Given the description of an element on the screen output the (x, y) to click on. 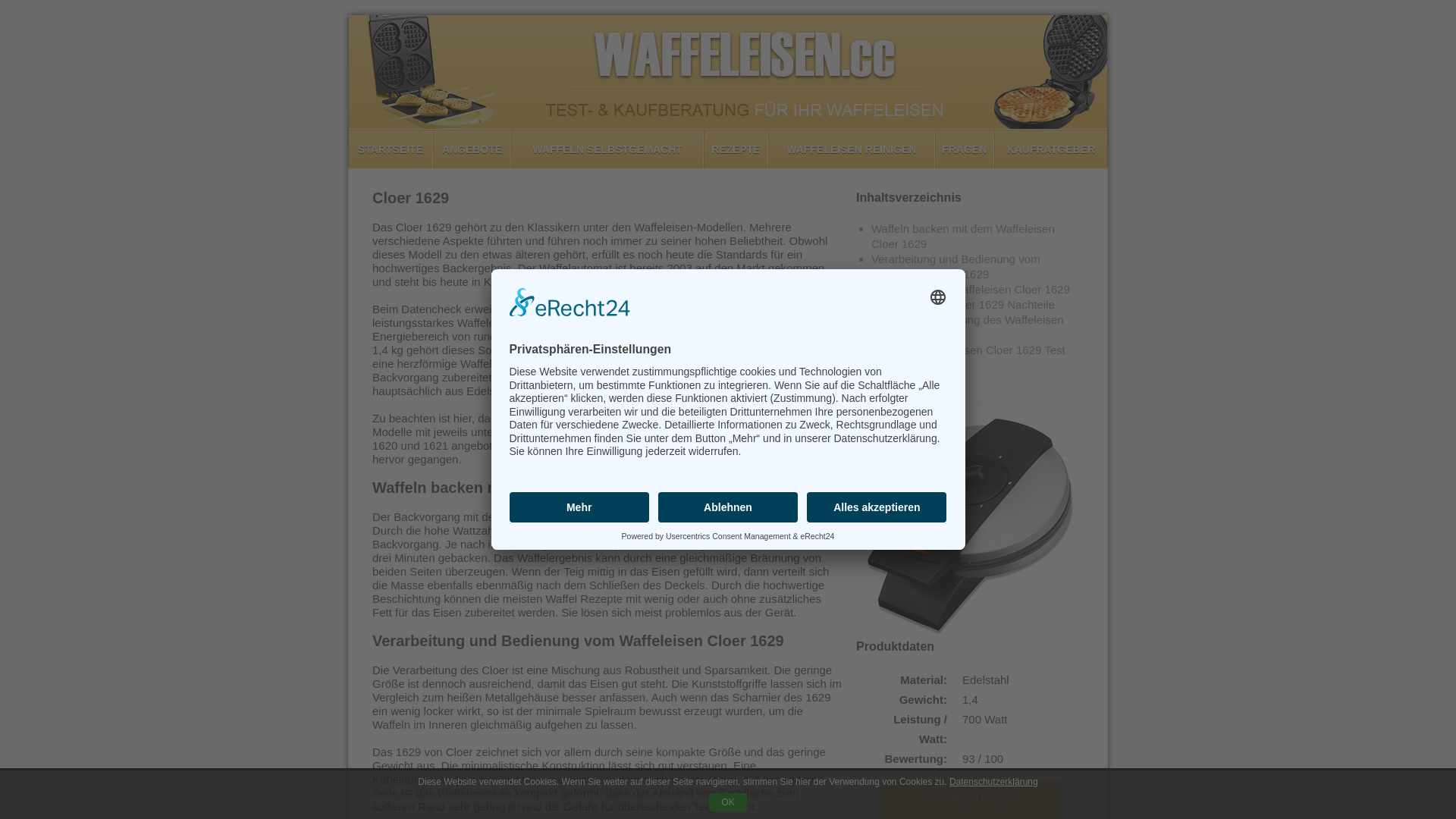
Waffeln backen mit dem Waffeleisen Cloer 1629 Element type: text (962, 236)
STARTSEITE Element type: text (390, 149)
Fazit zum Waffeleisen Cloer 1629 Test Element type: text (968, 349)
FRAGEN Element type: text (964, 149)
KAUFRATGEBER Element type: text (1050, 149)
WAFFELN SELBSTGEMACHT Element type: text (606, 149)
Pflege und Reinigung des Waffeleisen Cloer 1629 Element type: text (967, 327)
Waffeleisen Cloer 1629 Nachteile Element type: text (970, 304)
WAFFELEISEN REINIGEN Element type: text (851, 149)
Waffeleisen Element type: text (727, 71)
REZEPTE Element type: text (735, 149)
Vorteile vom Waffeleisen Cloer 1629 Element type: text (978, 288)
Verarbeitung und Bedienung vom Waffeleisen Cloer 1629 Element type: text (955, 266)
ANGEBOTE Element type: text (471, 149)
